Given the description of an element on the screen output the (x, y) to click on. 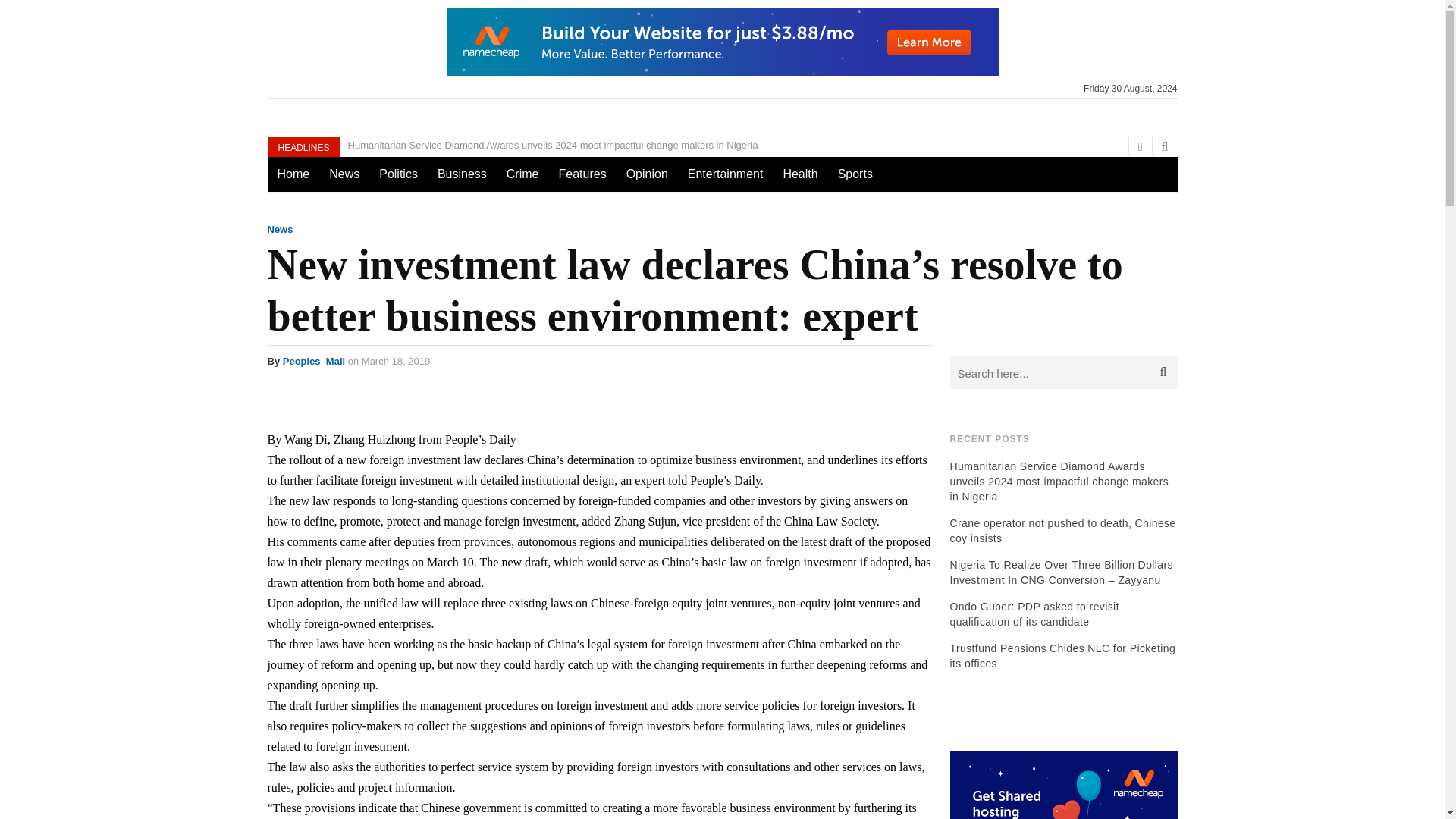
Features (581, 174)
Home (292, 174)
Entertainment (725, 174)
Crime (522, 174)
Sports (855, 174)
Opinion (646, 174)
Politics (398, 174)
News (279, 229)
News (343, 174)
